Given the description of an element on the screen output the (x, y) to click on. 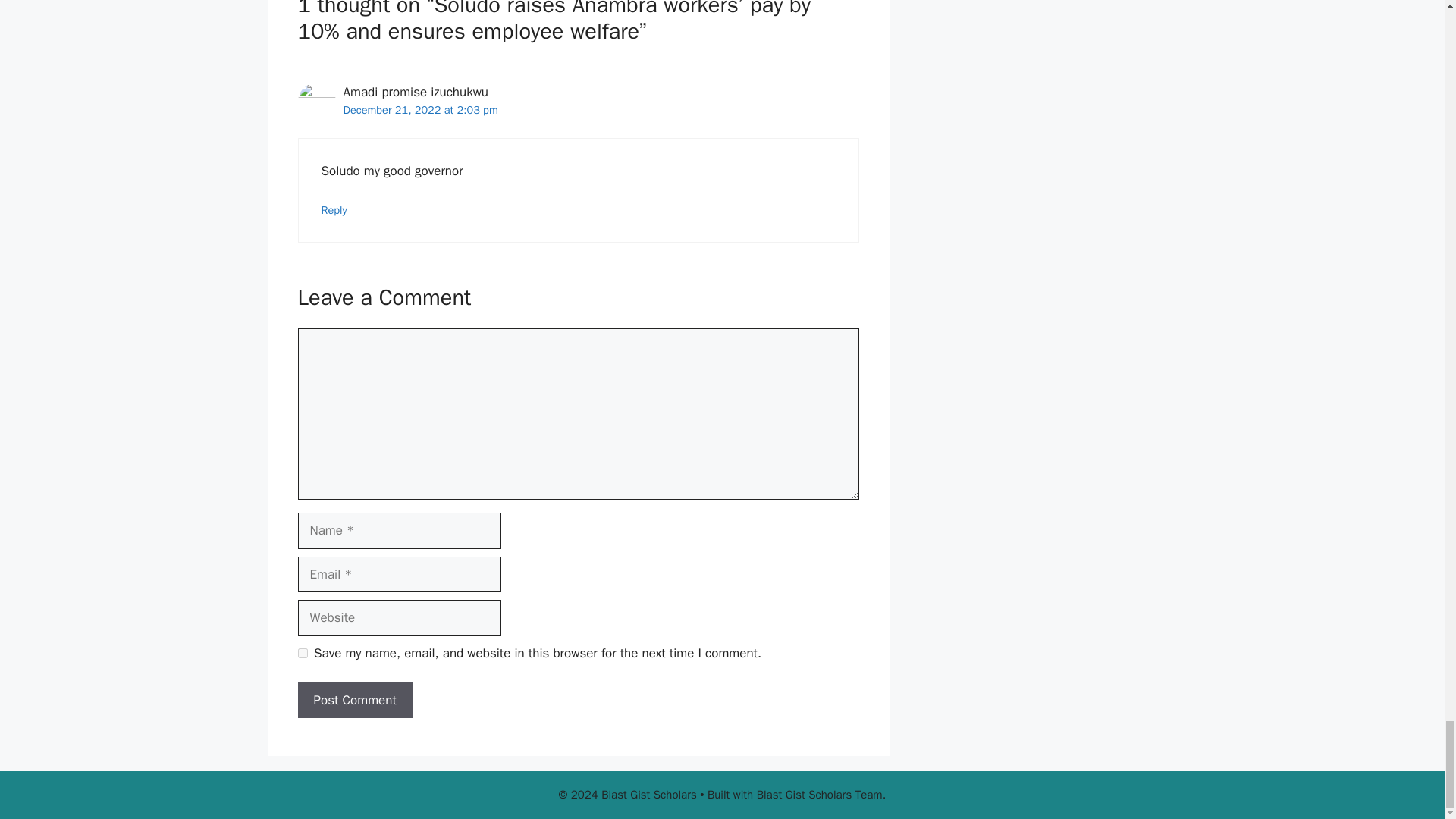
December 21, 2022 at 2:03 pm (419, 110)
yes (302, 653)
Post Comment (354, 700)
Post Comment (354, 700)
Reply (334, 210)
